Given the description of an element on the screen output the (x, y) to click on. 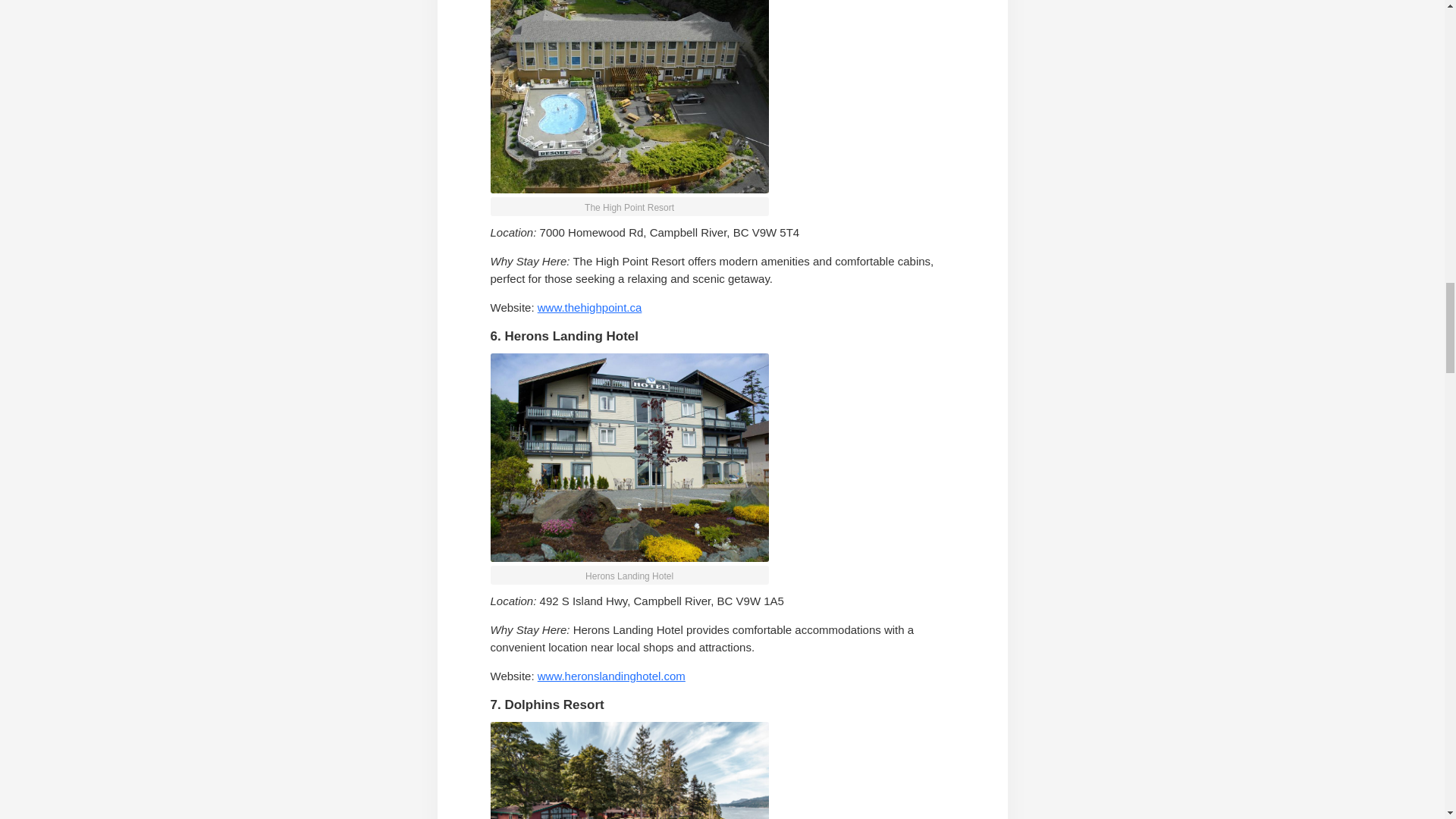
www.thehighpoint.ca (589, 307)
www.heronslandinghotel.com (611, 675)
